Given the description of an element on the screen output the (x, y) to click on. 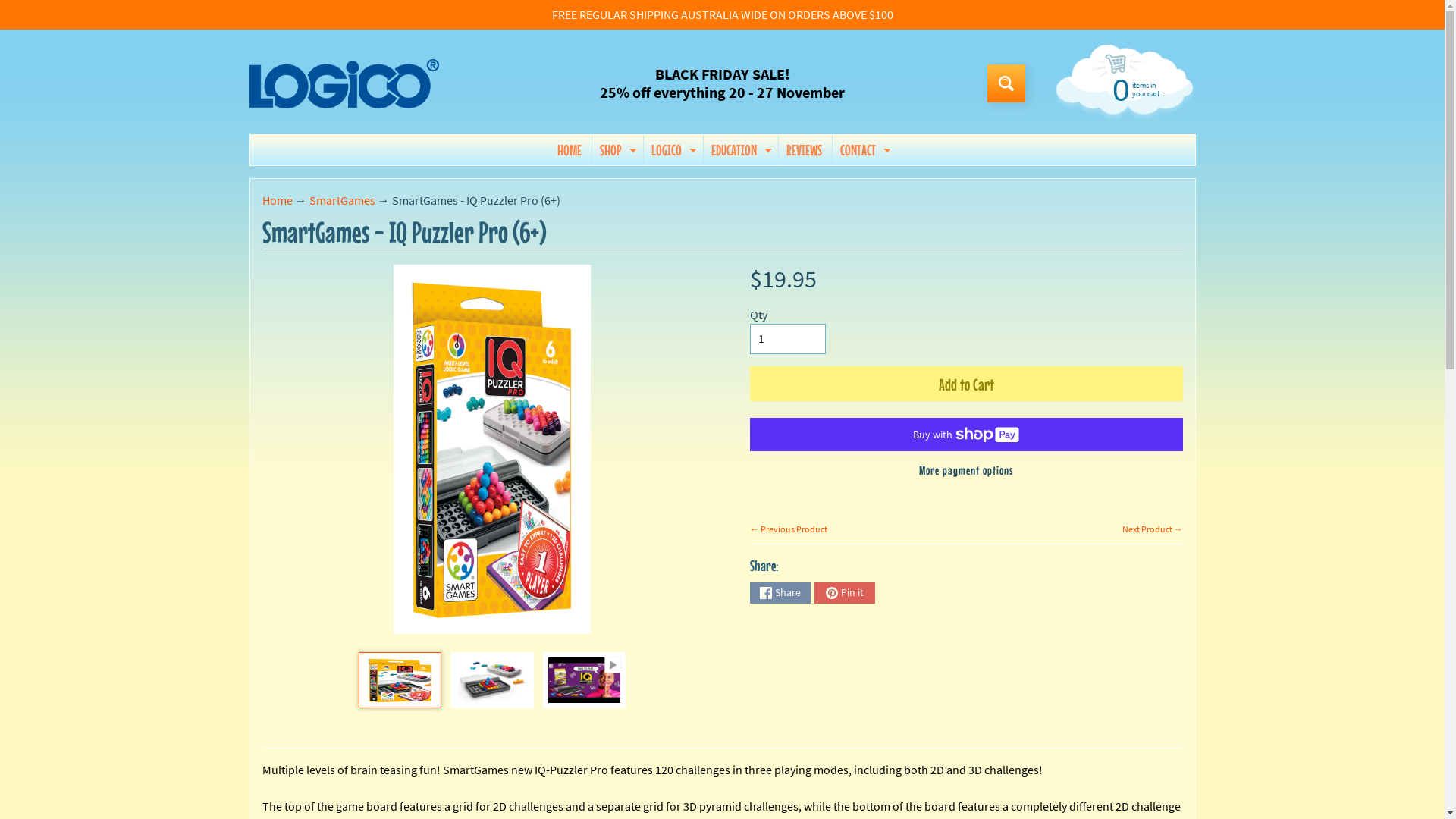
CONTACT
Expand child menu Element type: text (863, 149)
SmartGames - IQ Puzzler Pro (6+) Element type: hover (491, 680)
SmartGames Element type: text (342, 199)
HOME Element type: text (569, 149)
EDUCATION
Expand child menu Element type: text (739, 149)
0
items in your cart Element type: text (1122, 88)
Expand child menu Element type: text (886, 149)
More payment options Element type: text (966, 469)
LOGICO Australia Element type: hover (343, 83)
Expand child menu Element type: text (767, 149)
SmartGames - IQ Puzzler Pro (6+) Element type: hover (583, 680)
Share Element type: text (779, 592)
Expand child menu Element type: text (692, 149)
Add to Cart Element type: text (966, 383)
Home Element type: text (277, 199)
Expand child menu Element type: text (632, 149)
REVIEWS Element type: text (803, 149)
SmartGames - IQ Puzzler Pro (6+) Element type: hover (399, 680)
Search Element type: text (1006, 83)
Pin it Element type: text (844, 592)
LOGICO
Expand child menu Element type: text (671, 149)
SHOP
Expand child menu Element type: text (616, 149)
